Given the description of an element on the screen output the (x, y) to click on. 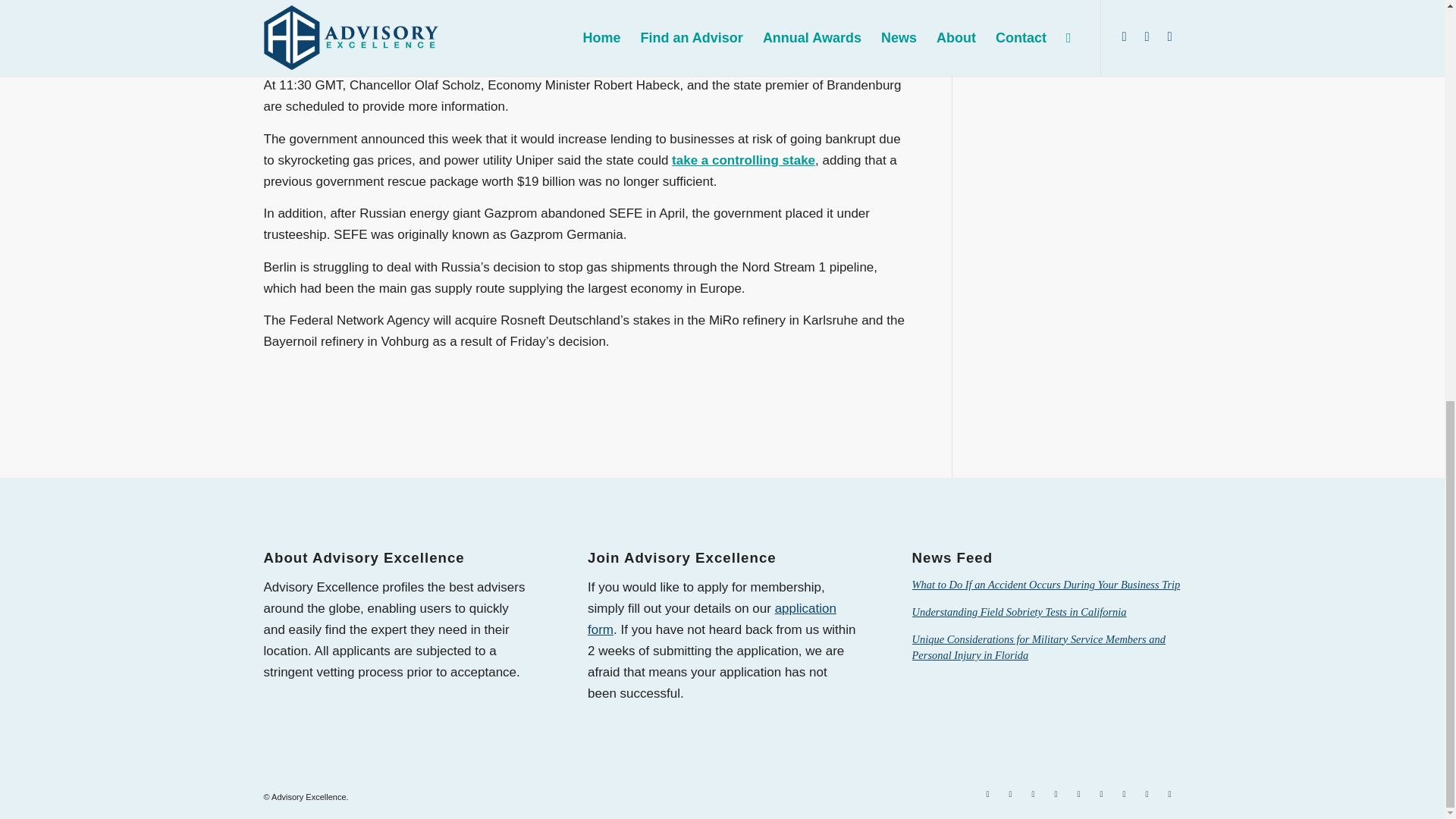
Understanding Field Sobriety Tests in California (1019, 612)
What to Do If an Accident Occurs During Your Business Trip (1046, 584)
Advisory Excellence (308, 796)
application form (711, 619)
take a controlling stake (743, 160)
